Given the description of an element on the screen output the (x, y) to click on. 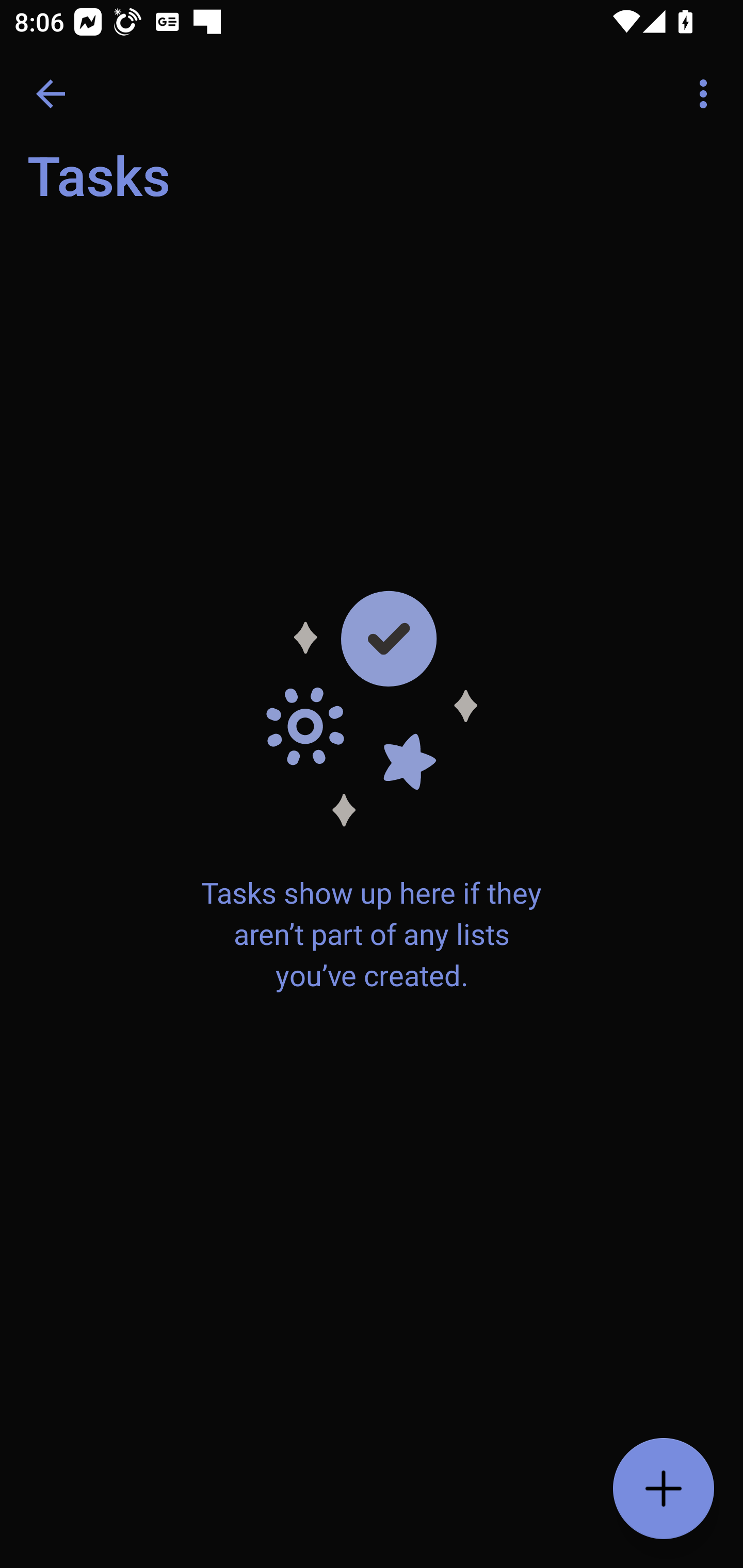
Back (50, 93)
More options (706, 93)
My Day, 0 tasks (182, 187)
Add a task (663, 1488)
